Given the description of an element on the screen output the (x, y) to click on. 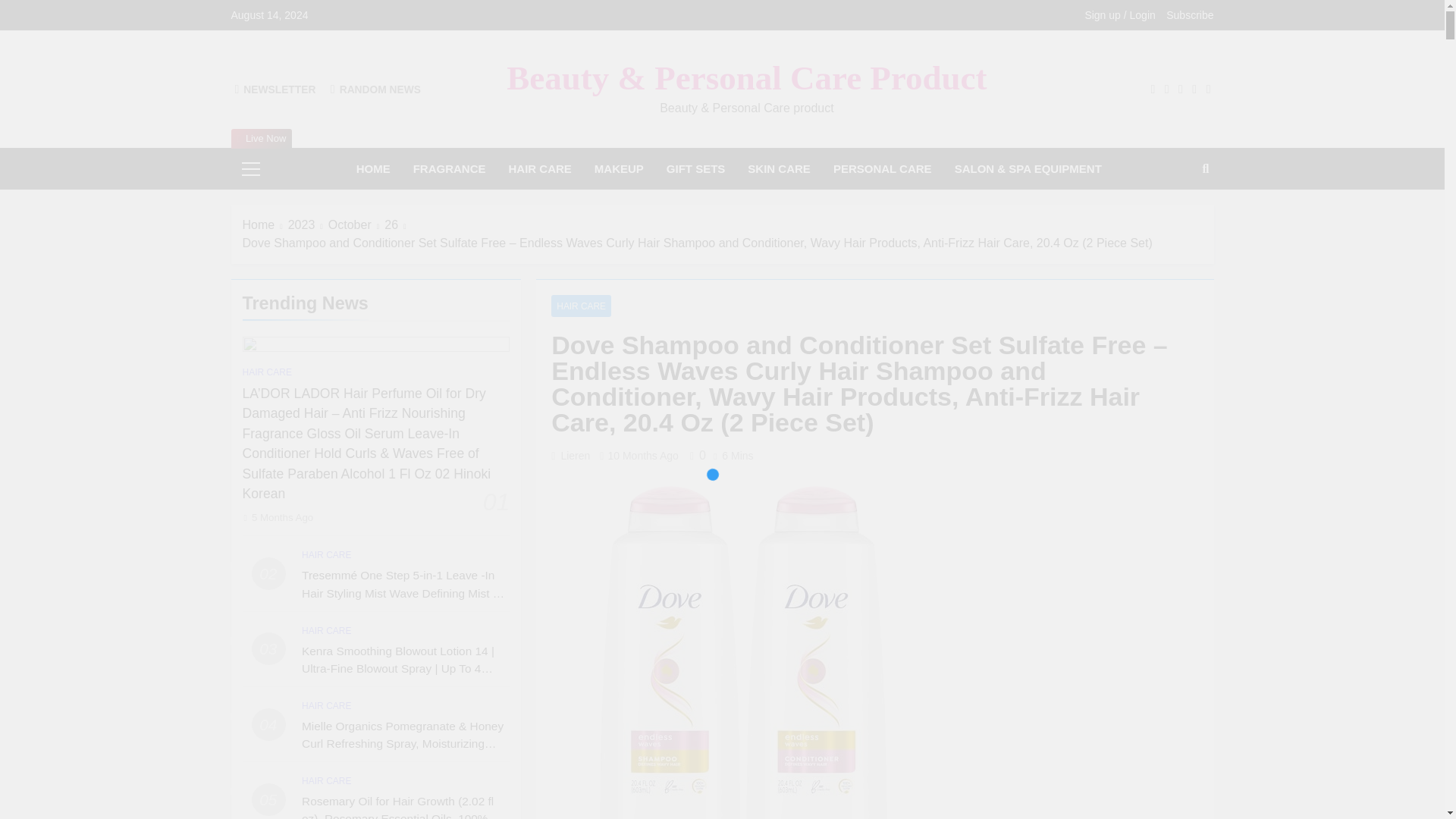
MAKEUP (619, 168)
NEWSLETTER (274, 88)
FRAGRANCE (449, 168)
SKIN CARE (779, 168)
PERSONAL CARE (882, 168)
HAIR CARE (539, 168)
Subscribe (1189, 15)
RANDOM NEWS (375, 88)
HOME (373, 168)
GIFT SETS (695, 168)
